Given the description of an element on the screen output the (x, y) to click on. 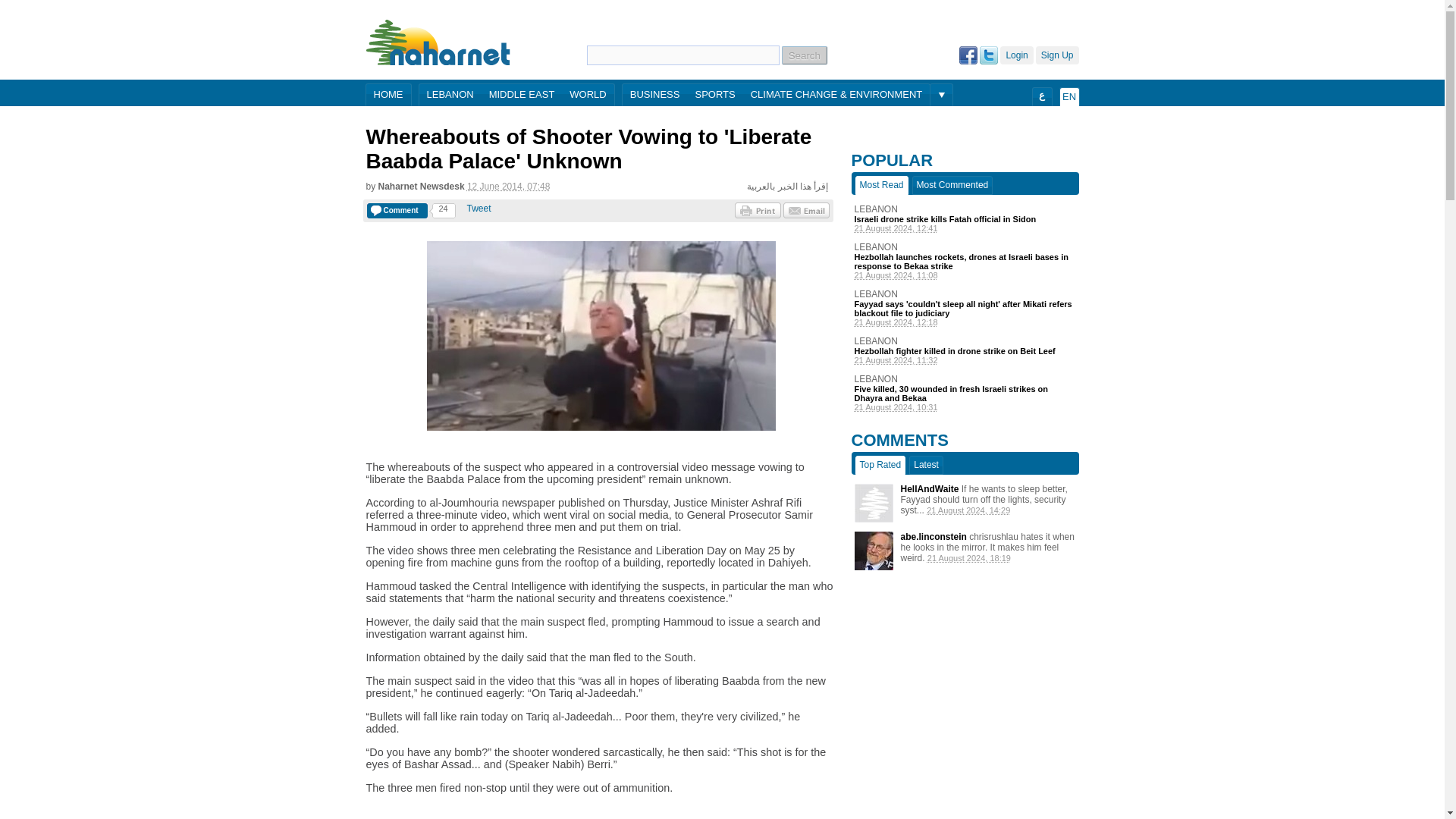
Naharnet (438, 41)
Login (1016, 54)
Search (804, 54)
Sign Up (1056, 54)
Comment (397, 210)
MIDDLE EAST (521, 95)
Search (804, 54)
Tweet (479, 208)
SPORTS (714, 95)
2014-06-12T04:48:08Z (508, 185)
